Given the description of an element on the screen output the (x, y) to click on. 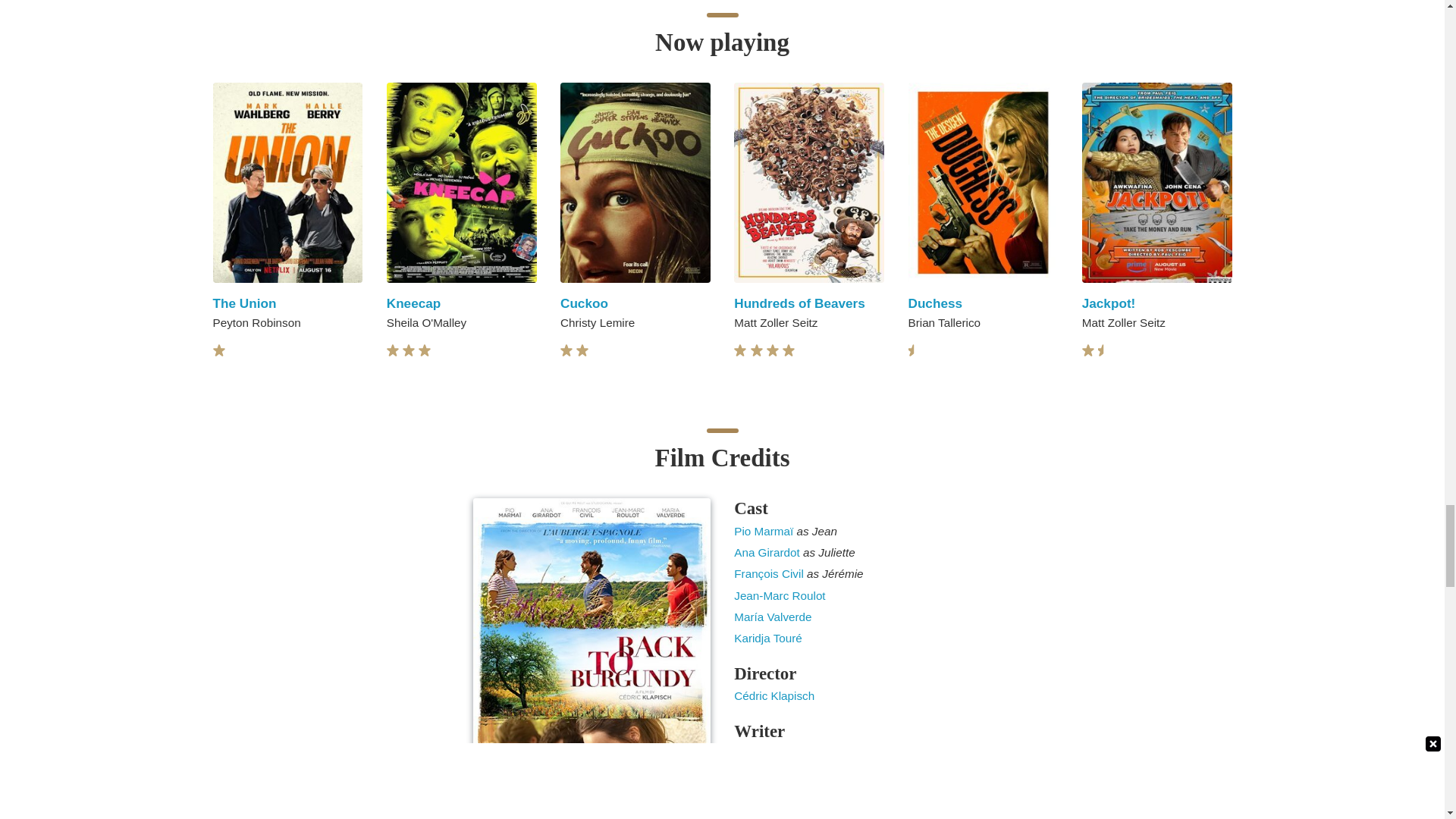
Duchess (935, 303)
Jackpot! (1108, 303)
star-full (424, 350)
star-full (218, 350)
star-full (392, 350)
star-full (408, 350)
Cuckoo (584, 303)
star-full (566, 350)
Kneecap (414, 303)
Hundreds of Beavers (798, 303)
